Given the description of an element on the screen output the (x, y) to click on. 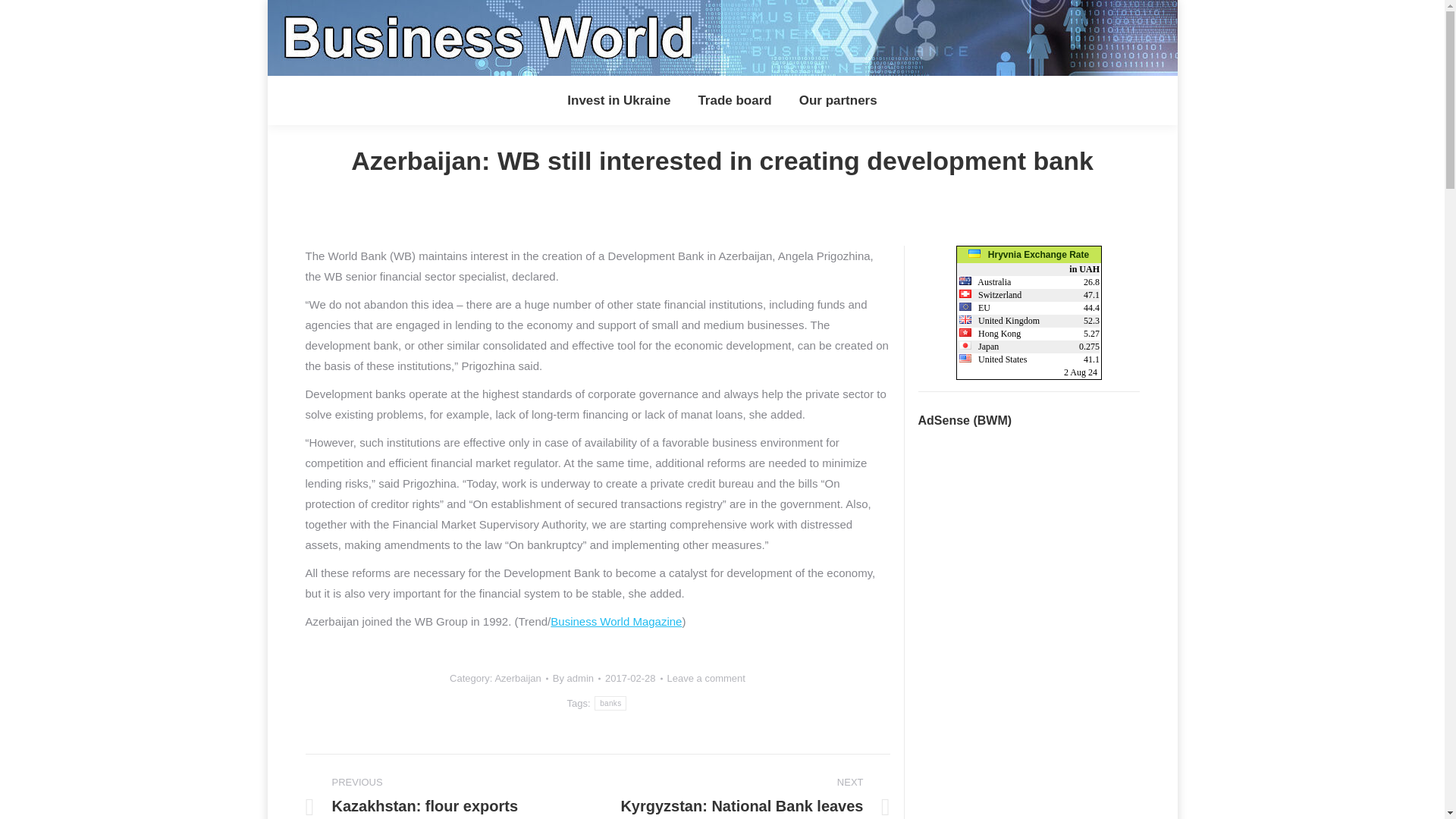
  Switzerland (990, 294)
44.4 (1091, 307)
British Pound (965, 319)
26.8 (1091, 281)
52.3 (1091, 320)
  Hong Kong (989, 333)
  EU (974, 307)
  Australia (984, 281)
View all posts by admin (576, 678)
47.1 (1091, 294)
Invest in Ukraine (618, 100)
British Pound (999, 320)
2:57 PM (633, 678)
Trade board (734, 100)
Hong Kong Dollar (965, 332)
